Given the description of an element on the screen output the (x, y) to click on. 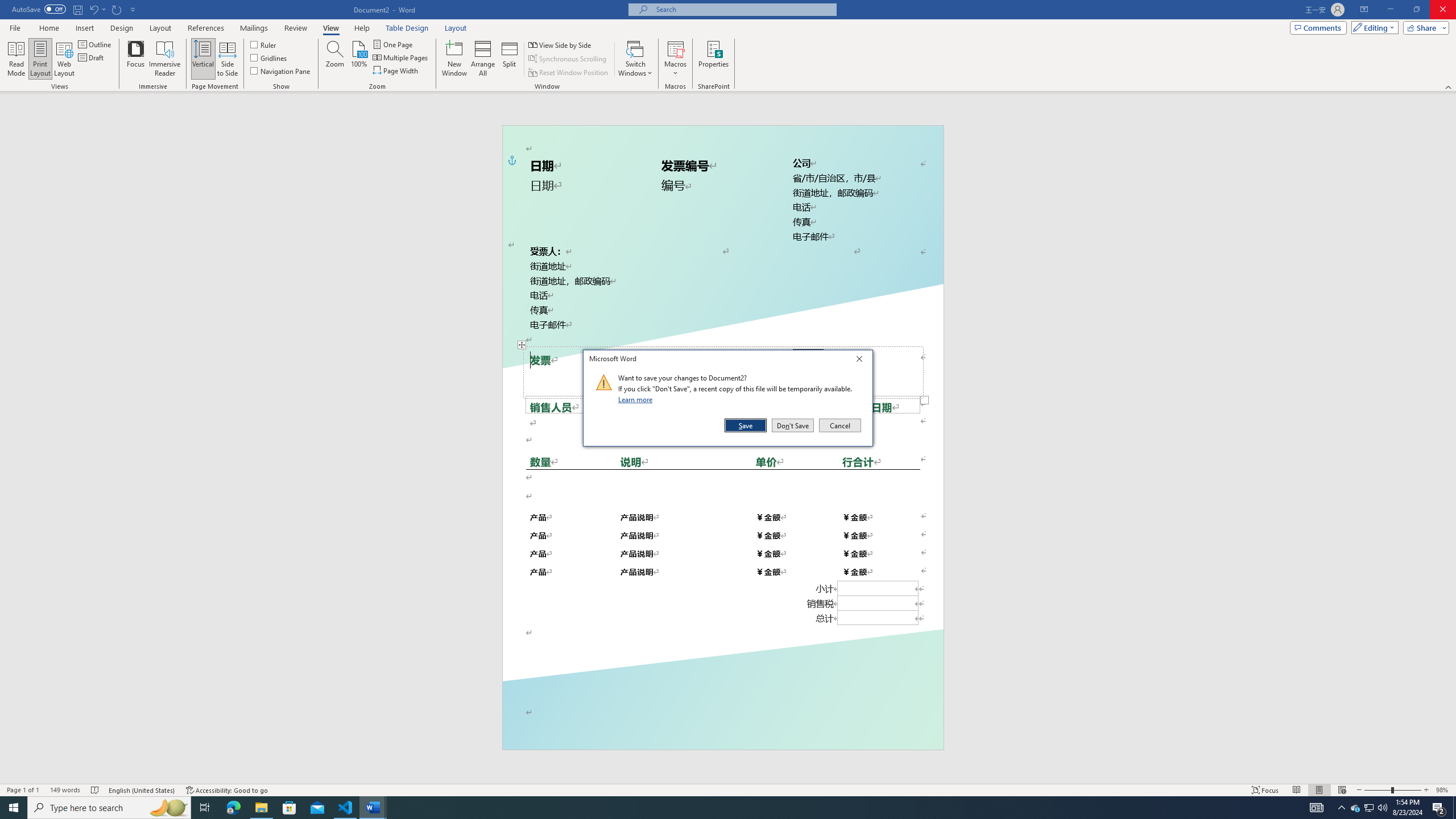
View Side by Side (561, 44)
New Window (454, 58)
Spelling and Grammar Check No Errors (94, 790)
Learn more (636, 399)
Ruler (263, 44)
